Given the description of an element on the screen output the (x, y) to click on. 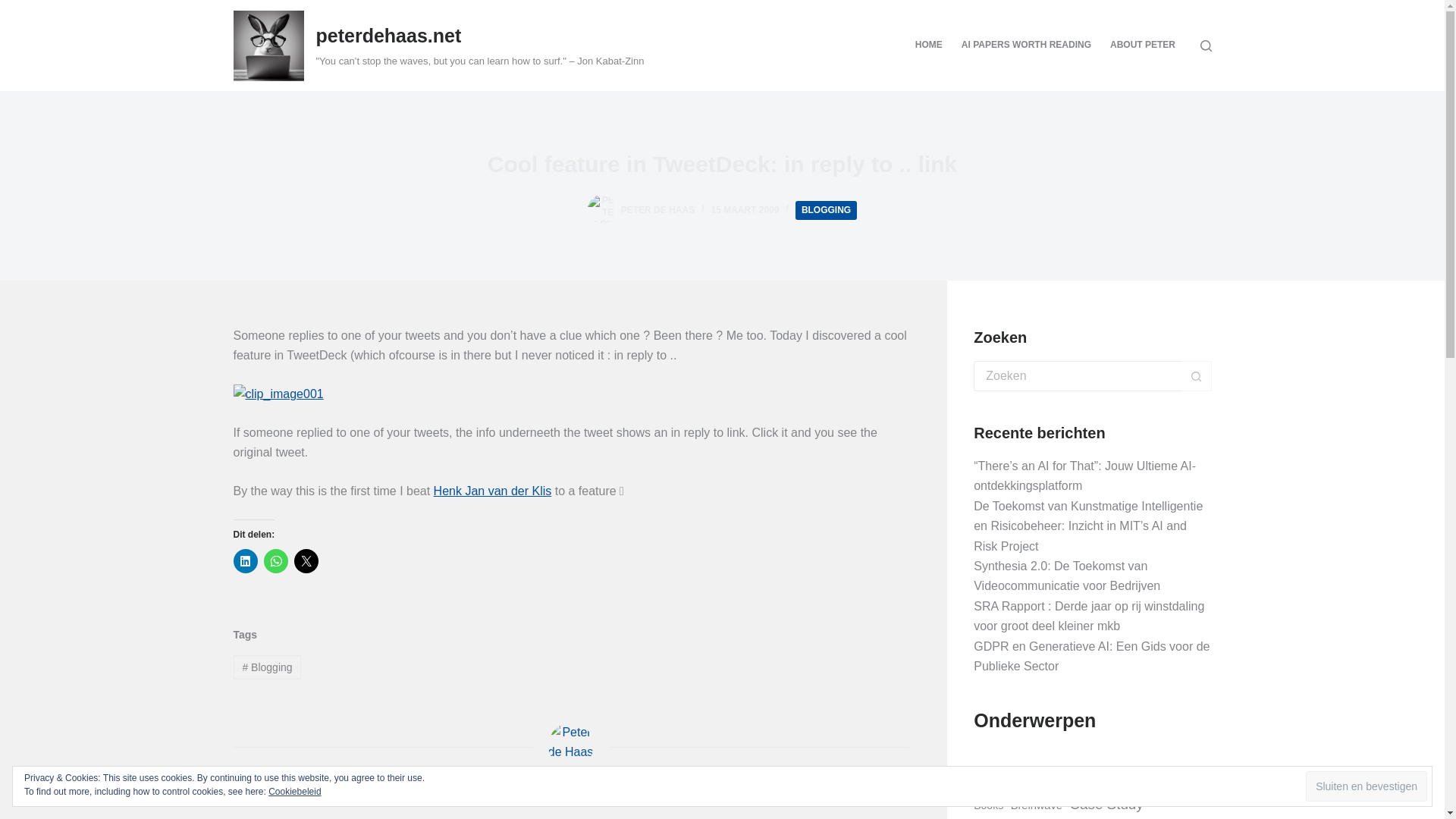
peterdehaas.net (388, 35)
GDPR en Generatieve AI: Een Gids voor de Publieke Sector (1091, 655)
HOME (928, 45)
Sluiten en bevestigen (1366, 786)
Apple (1110, 779)
Ga naar de inhoud (15, 7)
AI PAPERS WORTH READING (1026, 45)
Klik om te delen op WhatsApp (275, 560)
PETER DE HAAS (657, 209)
BLOGGING (825, 210)
